Given the description of an element on the screen output the (x, y) to click on. 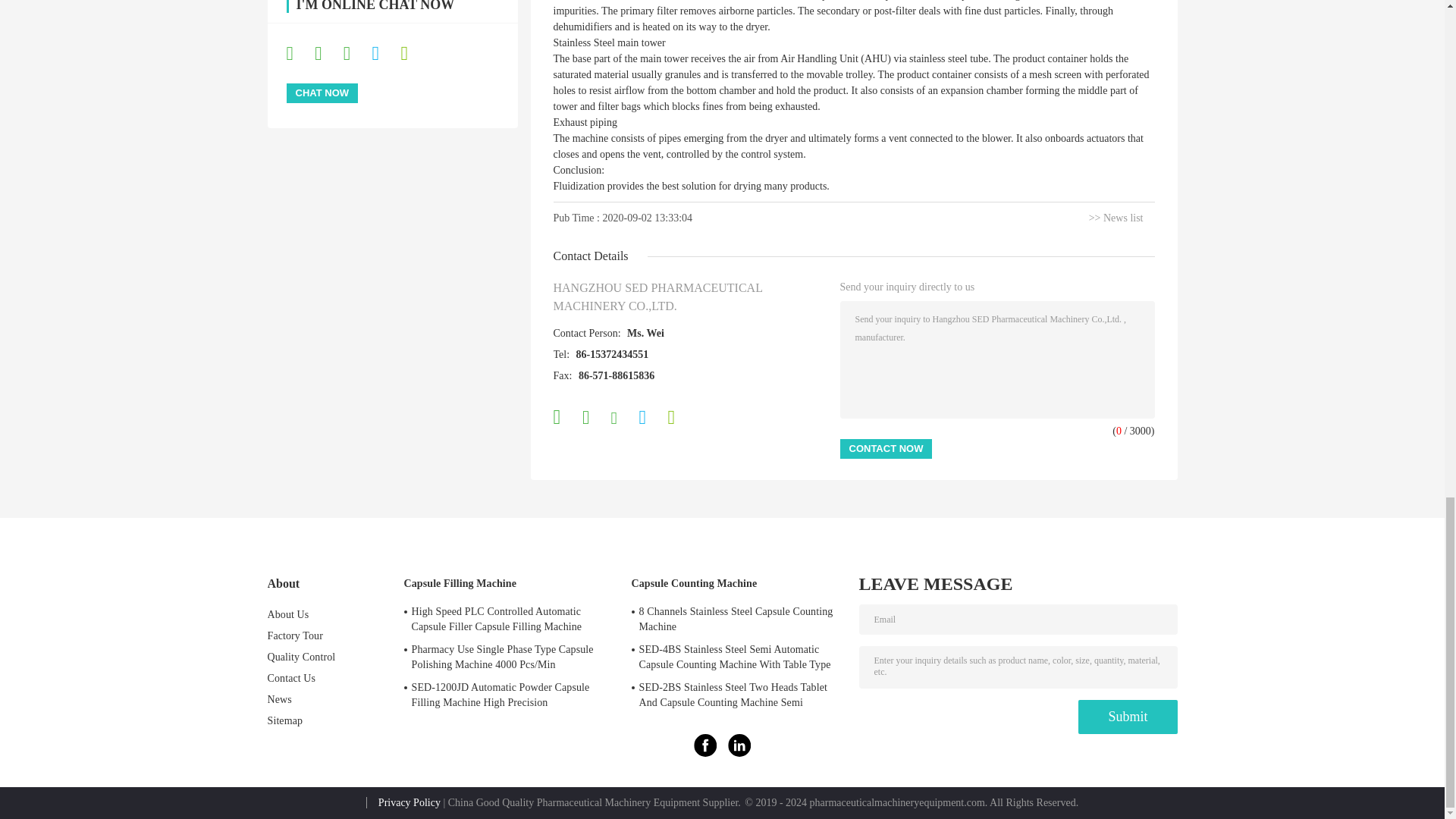
Chat Now (322, 93)
Contact Now (886, 448)
Submit (1127, 716)
